Given the description of an element on the screen output the (x, y) to click on. 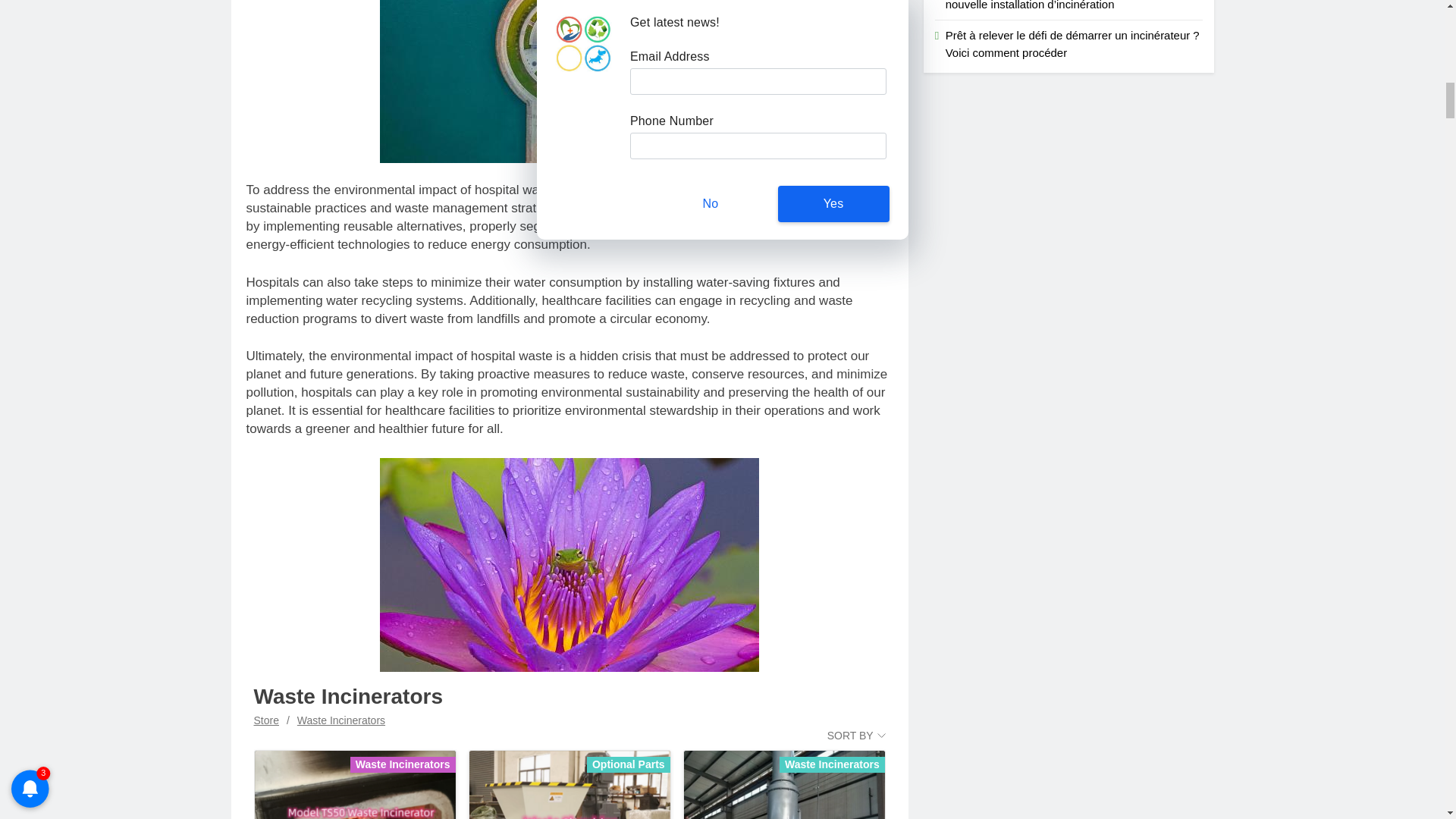
Model YD150 Waste Incinerator (784, 768)
Waste Incinerators (354, 785)
Model YD150 Waste Incinerator (784, 785)
Optional Parts (568, 785)
Store (265, 720)
Model TS50 Waste Incinerator (354, 785)
Model TS50 Waste Incinerator (354, 768)
Waste Shredder Double Shaft 100-200 Kgs per hour (569, 785)
Waste Incinerators (341, 720)
Waste Shredder Double Shaft 100-200 Kgs per hour (568, 785)
Waste Incinerators (784, 785)
